Given the description of an element on the screen output the (x, y) to click on. 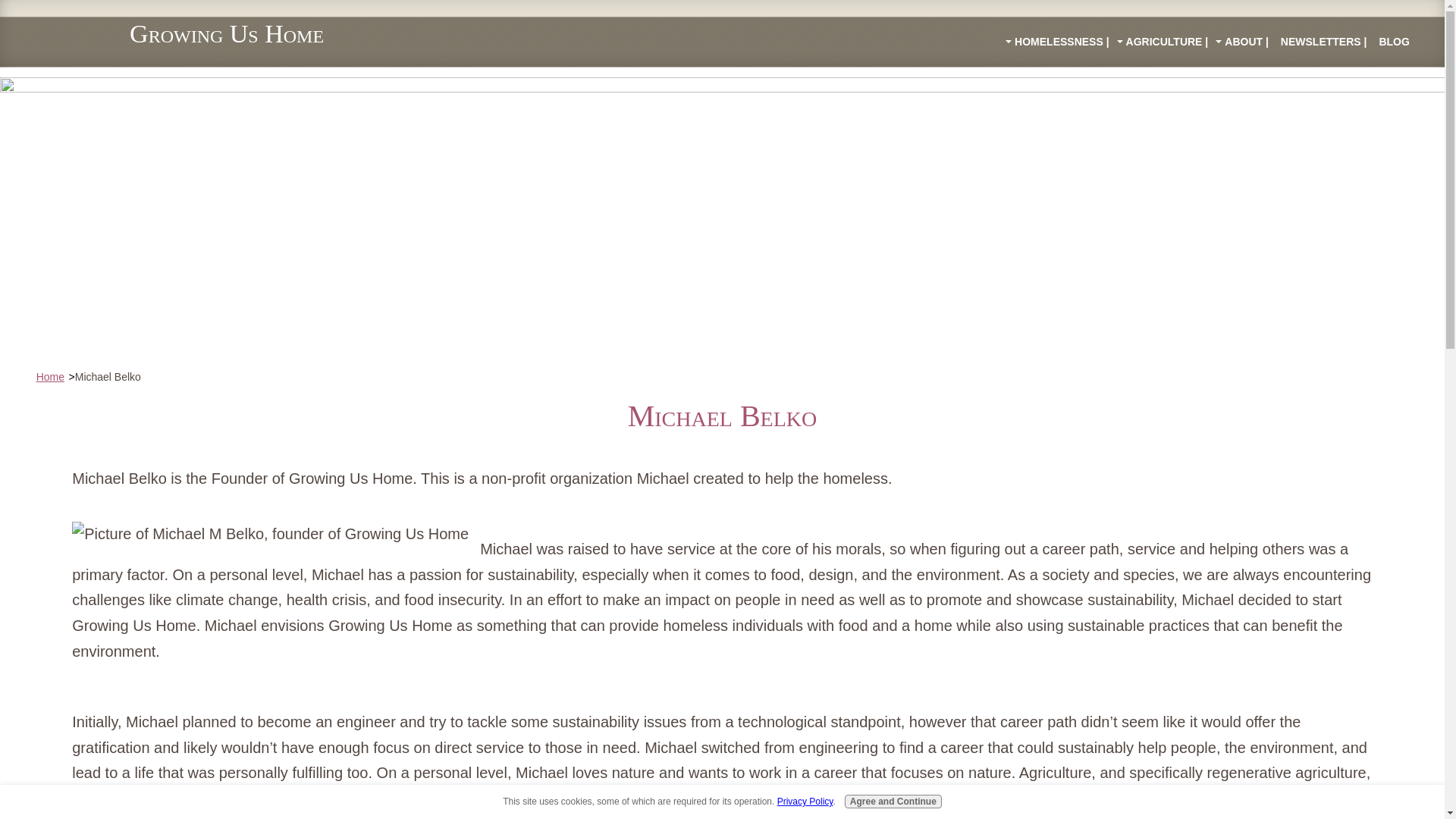
Growing Us Home (226, 33)
Agree and Continue (893, 801)
Home (50, 377)
Privacy Policy (804, 801)
Picture of Michael M Belko, founder of Growing Us Home (269, 534)
